Given the description of an element on the screen output the (x, y) to click on. 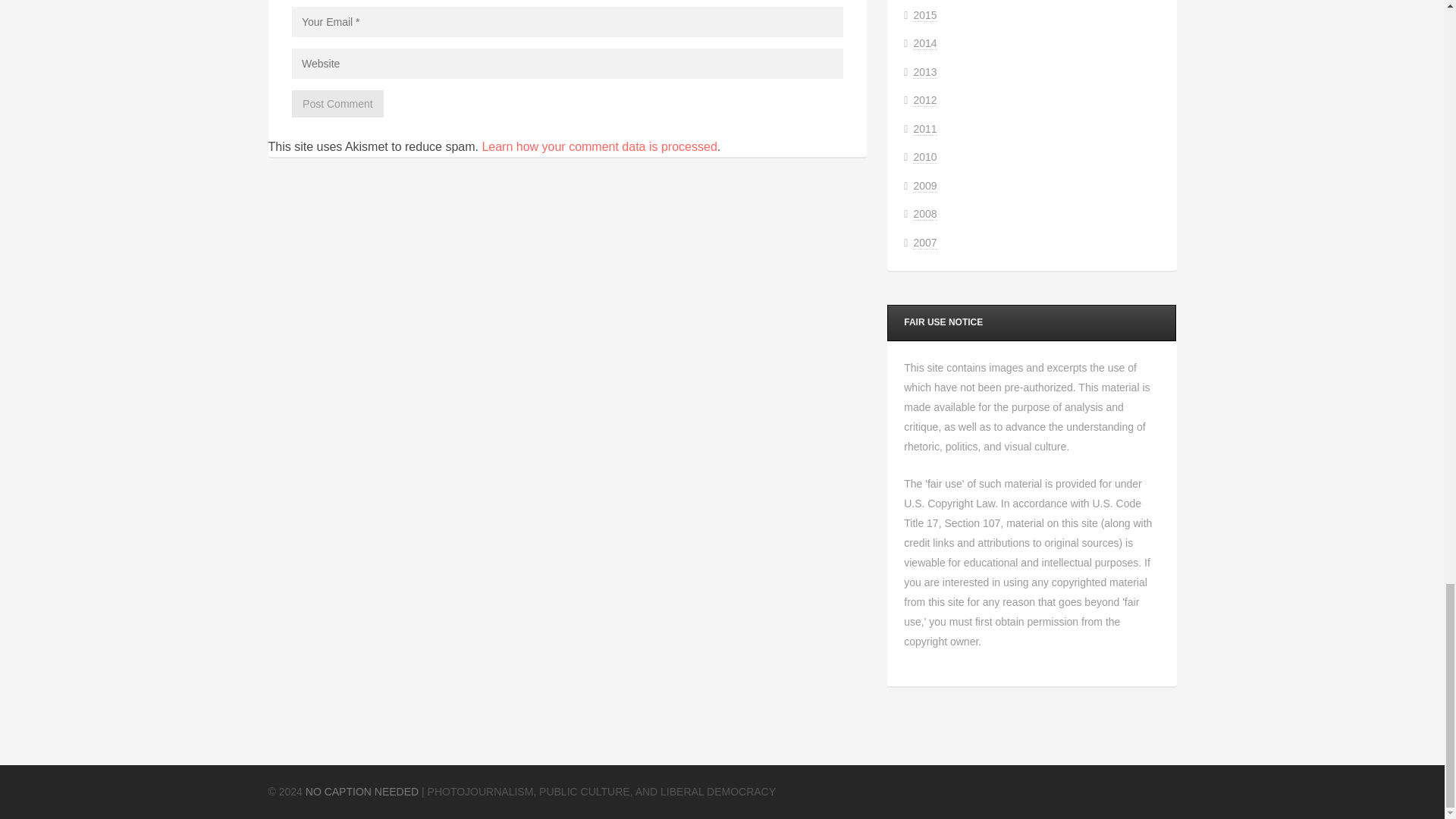
Post Comment (338, 103)
Learn how your comment data is processed (598, 146)
Post Comment (338, 103)
